Given the description of an element on the screen output the (x, y) to click on. 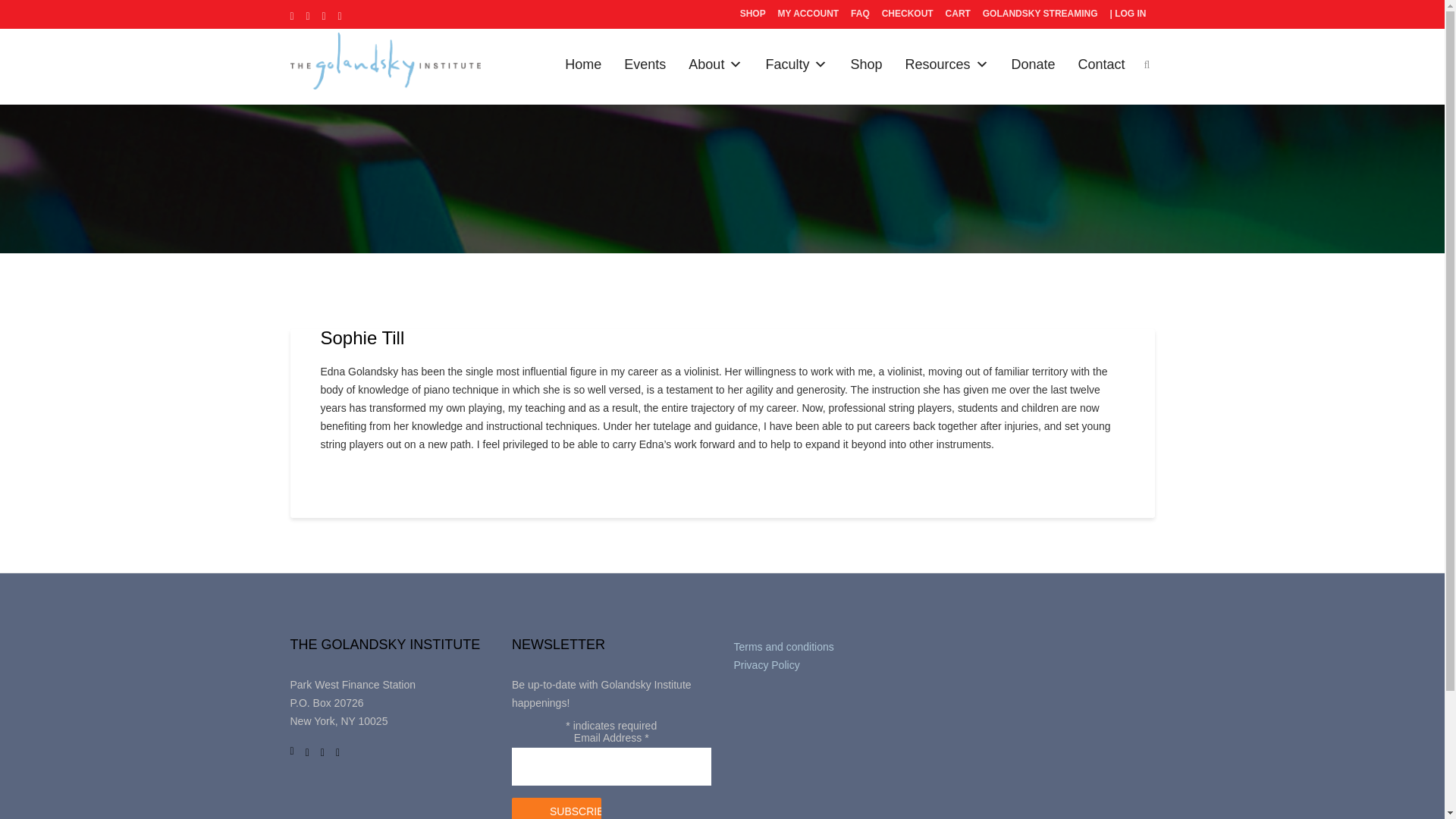
Shop (865, 64)
Home (582, 64)
GOLANDSKY STREAMING (1039, 13)
Subscribe (556, 808)
SHOP (753, 13)
Resources (945, 64)
Donate (1033, 64)
MY ACCOUNT (808, 13)
FAQ (860, 13)
About (715, 64)
Faculty (796, 64)
Logo (384, 60)
Contact (1102, 64)
Events (644, 64)
CART (957, 13)
